Given the description of an element on the screen output the (x, y) to click on. 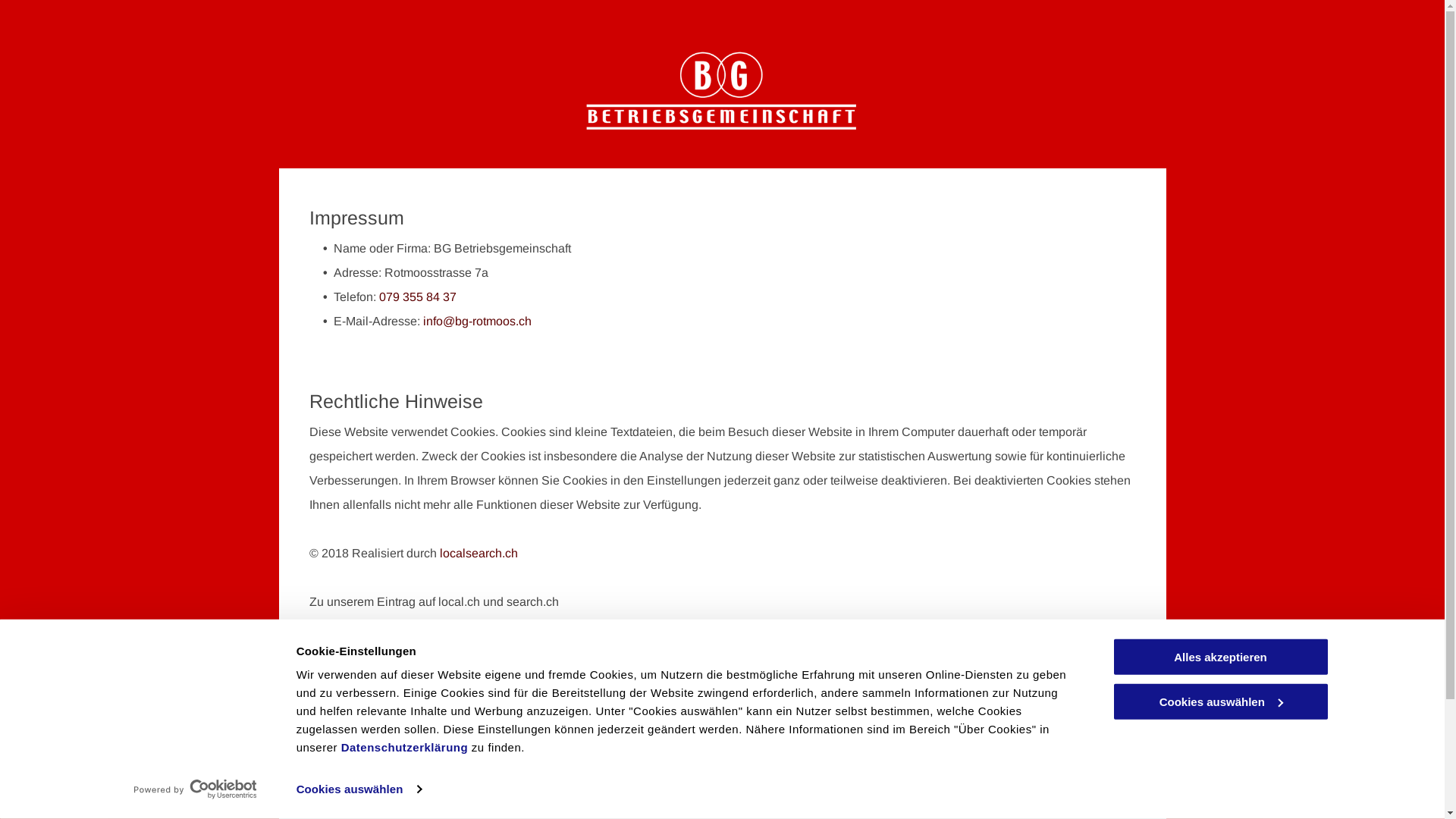
info@bg-rotmoos.ch Element type: text (564, 790)
Alles akzeptieren Element type: text (1219, 656)
info@bg-rotmoos.ch Element type: text (477, 320)
079 355 84 37 Element type: text (417, 296)
Impressum Element type: text (750, 740)
localsearch.ch Element type: text (478, 552)
079 355 84 37 Element type: text (550, 756)
